Given the description of an element on the screen output the (x, y) to click on. 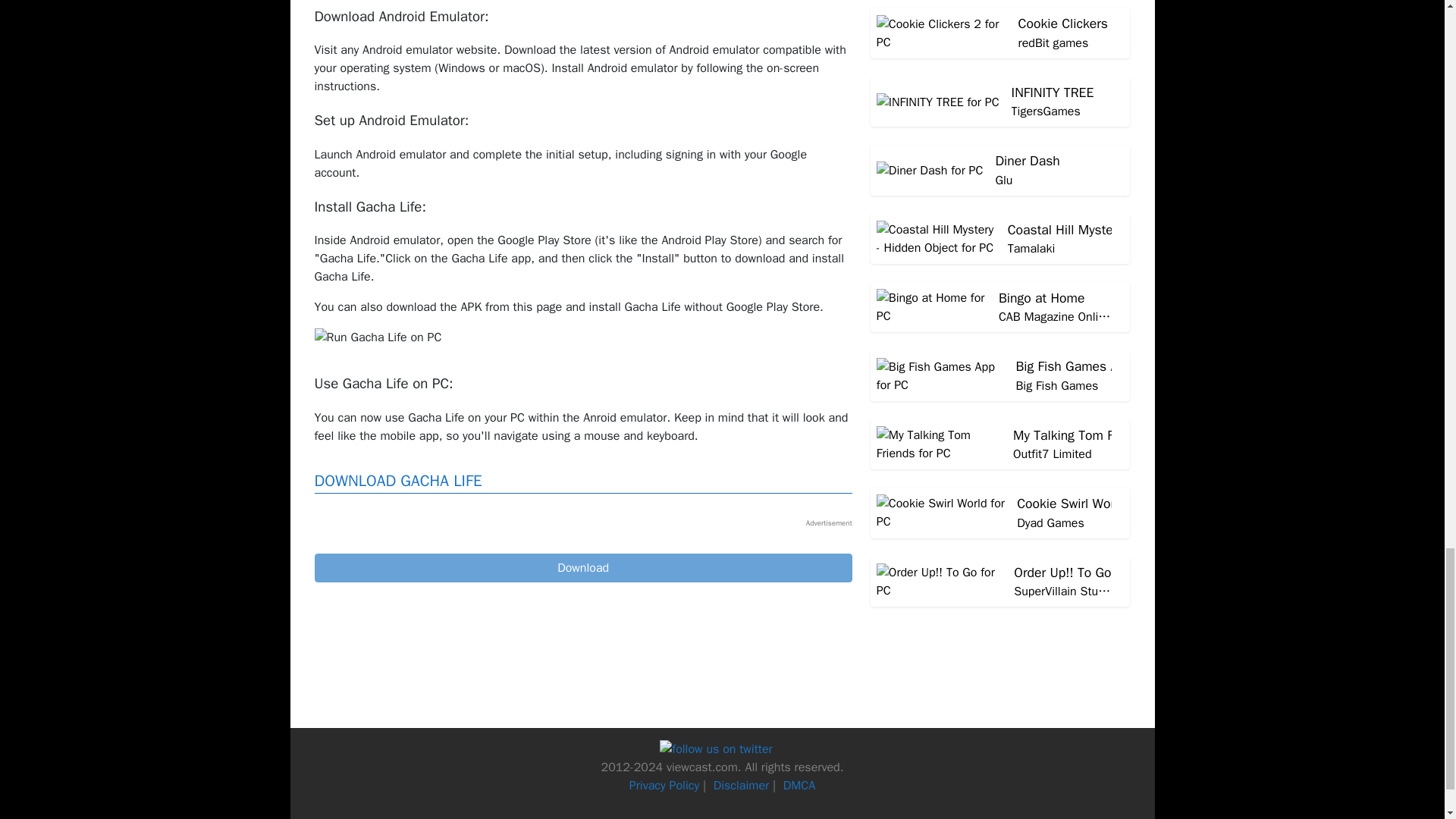
Gacha Life (582, 567)
Download (582, 567)
Run Gacha Life on PC (377, 337)
